Given the description of an element on the screen output the (x, y) to click on. 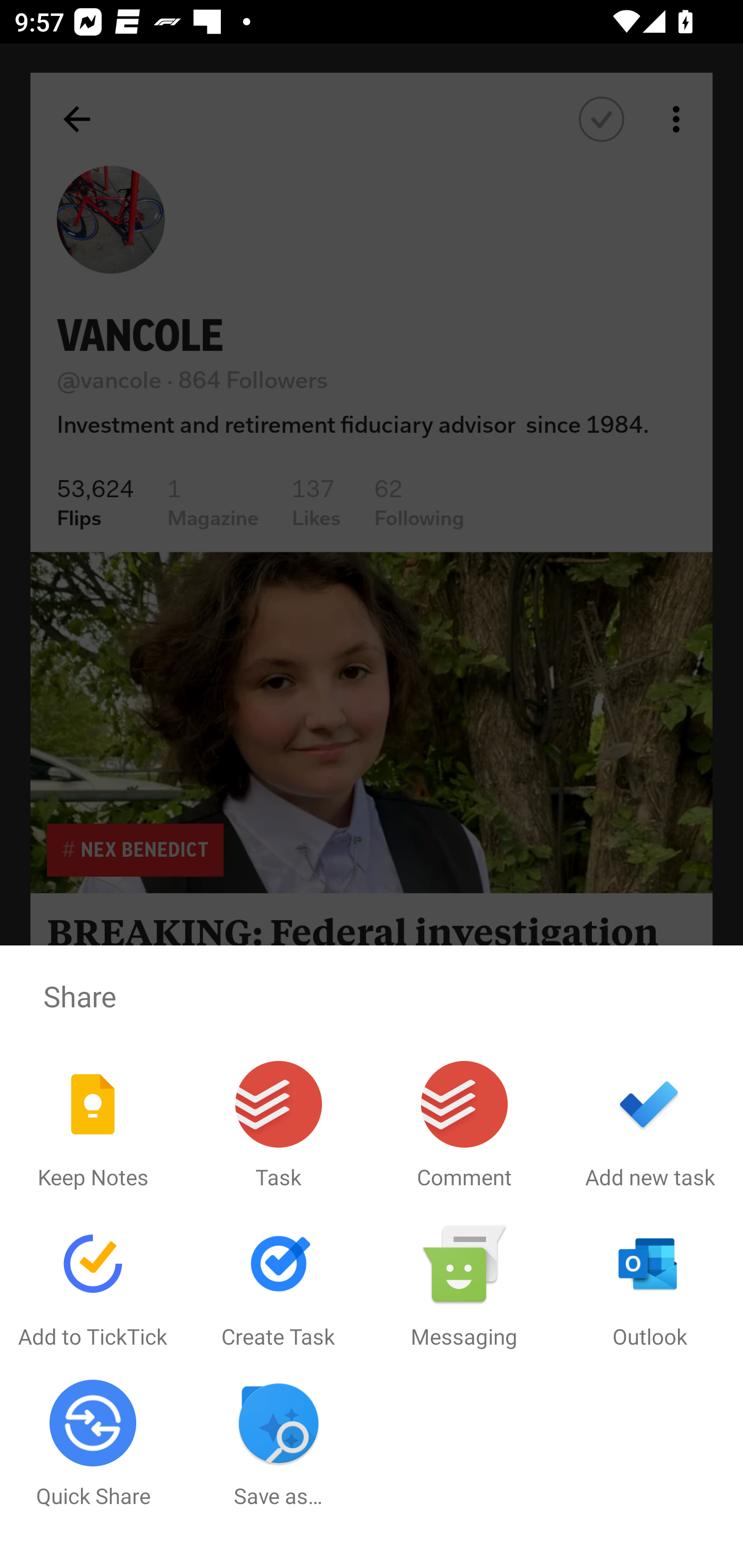
Keep Notes (92, 1125)
Task (278, 1125)
Comment (464, 1125)
Add new task (650, 1125)
Add to TickTick (92, 1285)
Create Task (278, 1285)
Messaging (464, 1285)
Outlook (650, 1285)
Quick Share (92, 1444)
Save as… (278, 1444)
